Given the description of an element on the screen output the (x, y) to click on. 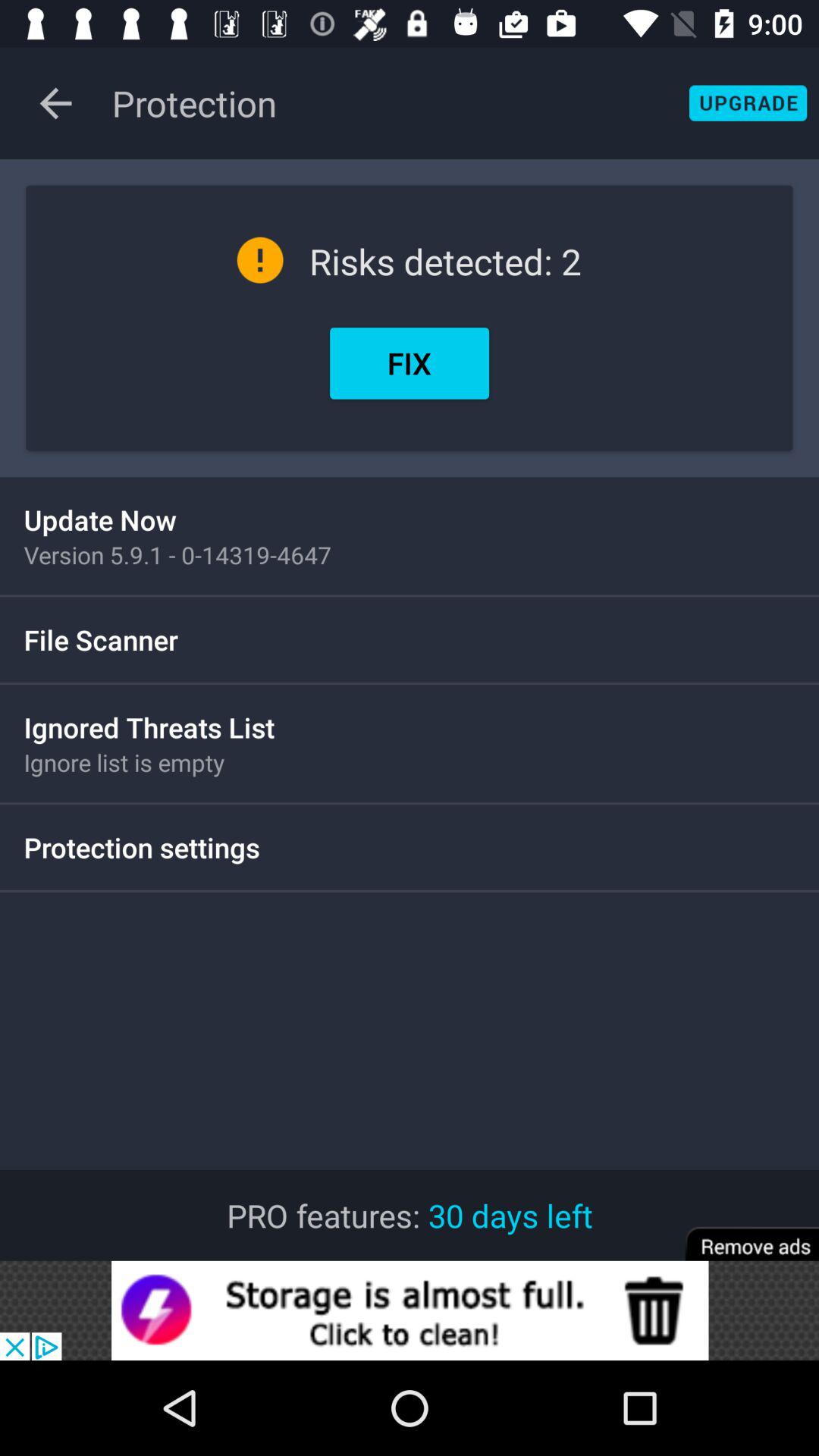
remove advertisements (742, 1233)
